Given the description of an element on the screen output the (x, y) to click on. 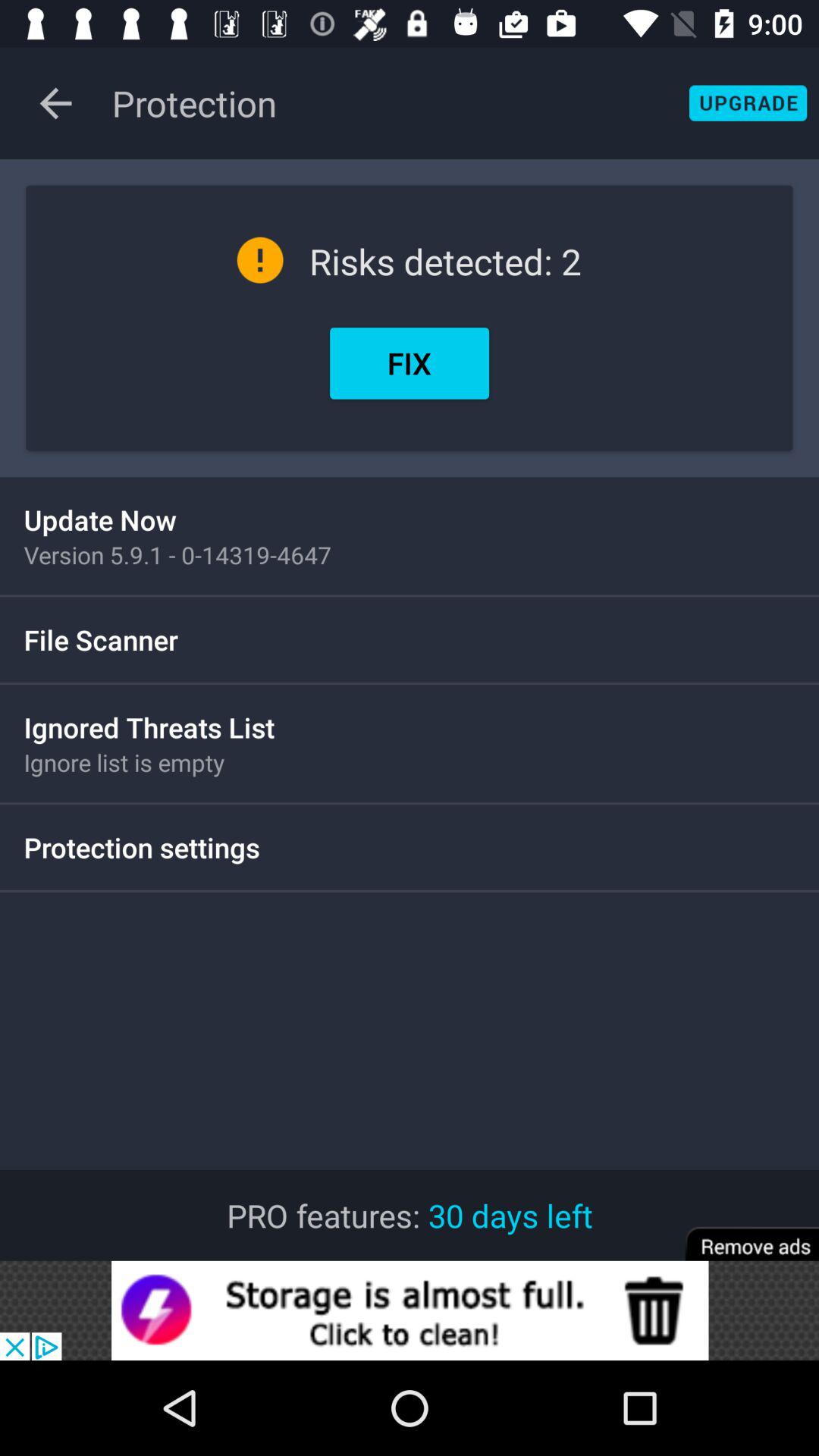
remove advertisements (742, 1233)
